Given the description of an element on the screen output the (x, y) to click on. 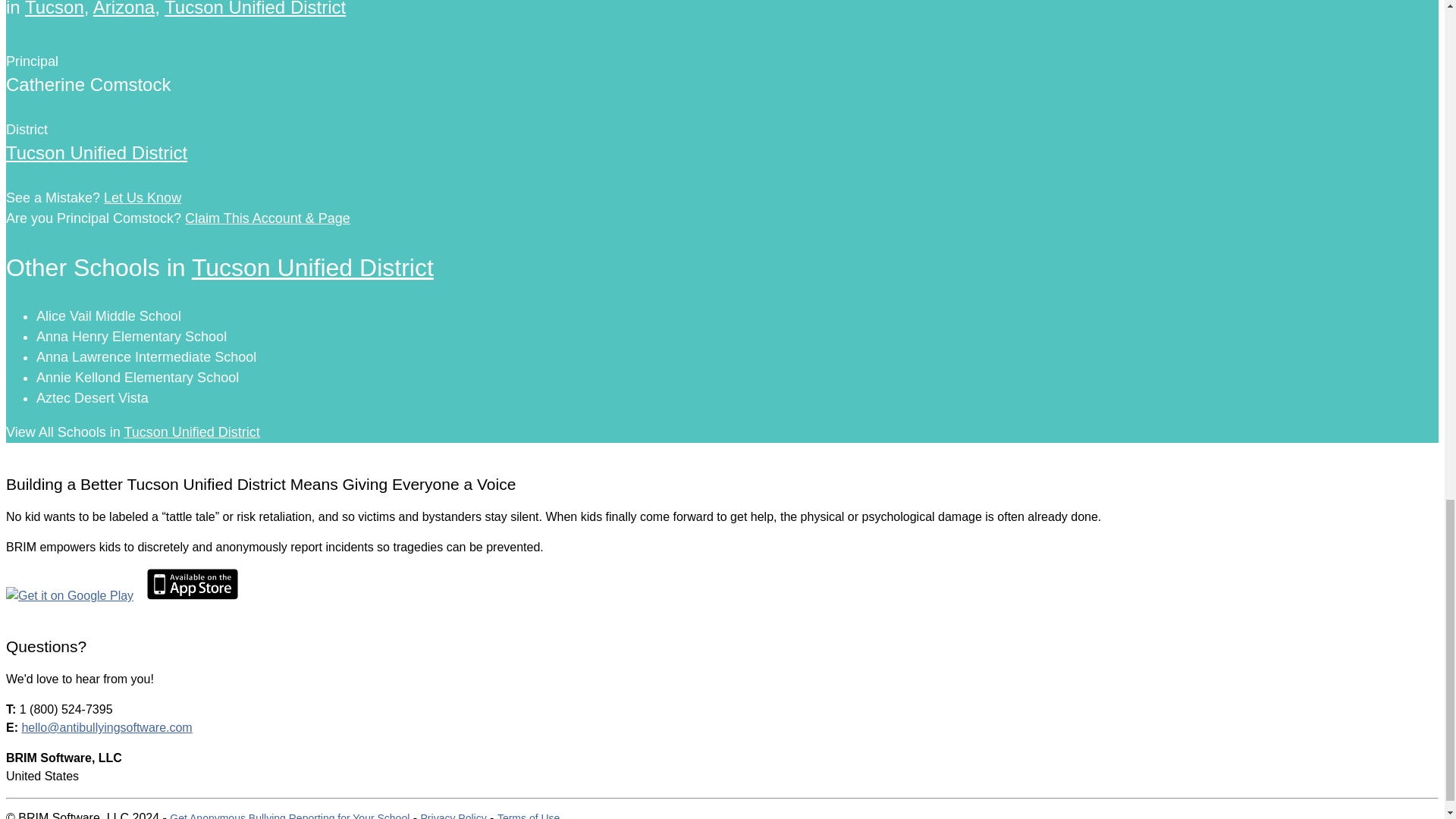
Tucson (54, 8)
Tucson Unified District (255, 8)
Tucson Unified District (96, 152)
Alice Vail Middle School (108, 315)
Anna Lawrence Intermediate School (146, 356)
Tucson Unified District (191, 432)
Aztec Desert Vista (92, 397)
Anna Henry Elementary School (131, 336)
Tucson Unified District (312, 267)
Let Us Know (141, 197)
Annie Kellond Elementary School (137, 377)
Arizona (123, 8)
